Given the description of an element on the screen output the (x, y) to click on. 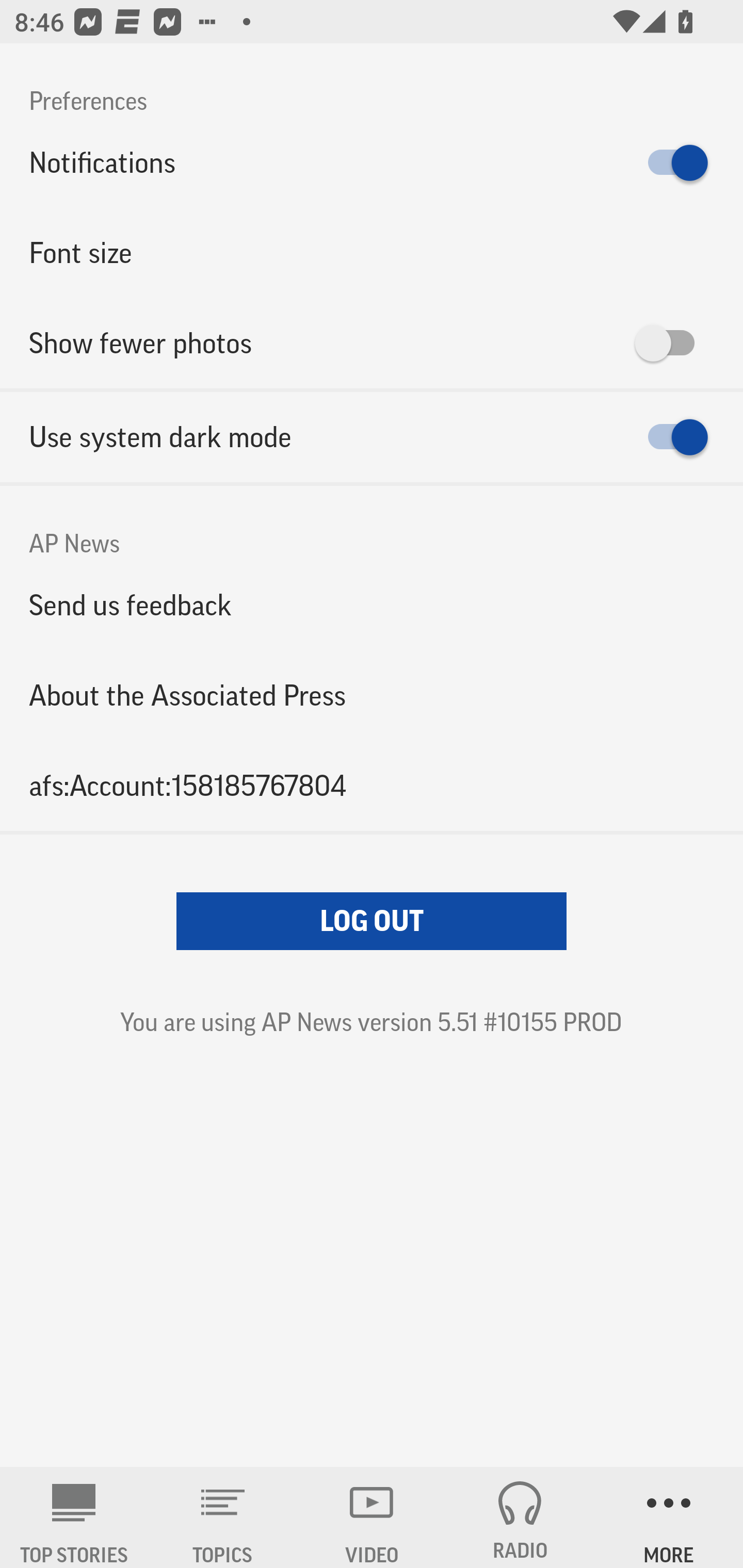
Notifications (371, 162)
Font size (371, 252)
Show fewer photos (371, 342)
Use system dark mode (371, 437)
Send us feedback (371, 604)
About the Associated Press (371, 695)
afs:Account:158185767804 (371, 785)
LOG OUT (371, 921)
AP News TOP STORIES (74, 1517)
TOPICS (222, 1517)
VIDEO (371, 1517)
RADIO (519, 1517)
MORE (668, 1517)
